Given the description of an element on the screen output the (x, y) to click on. 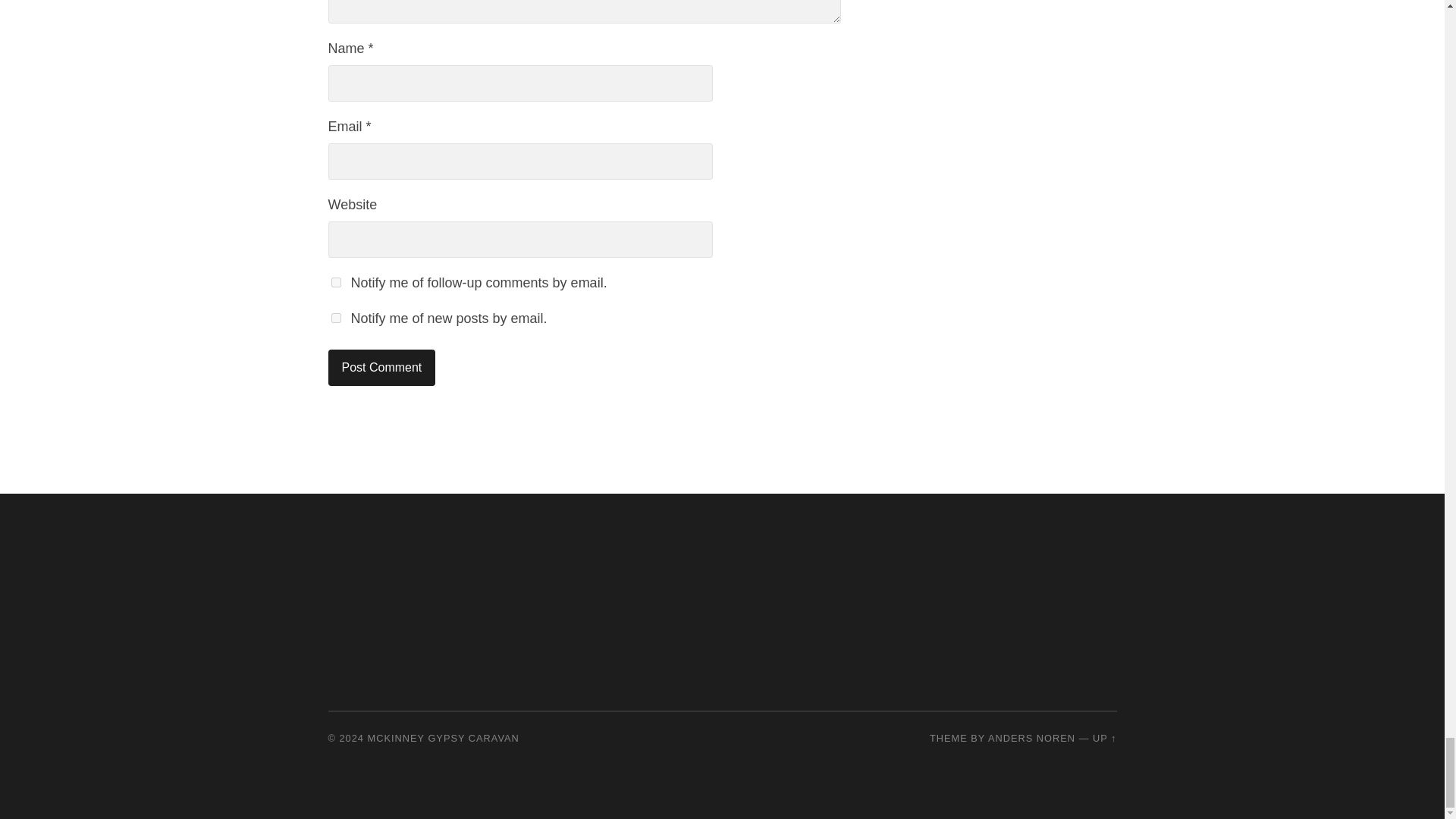
subscribe (335, 317)
Post Comment (381, 367)
subscribe (335, 282)
To the top (1104, 737)
